Given the description of an element on the screen output the (x, y) to click on. 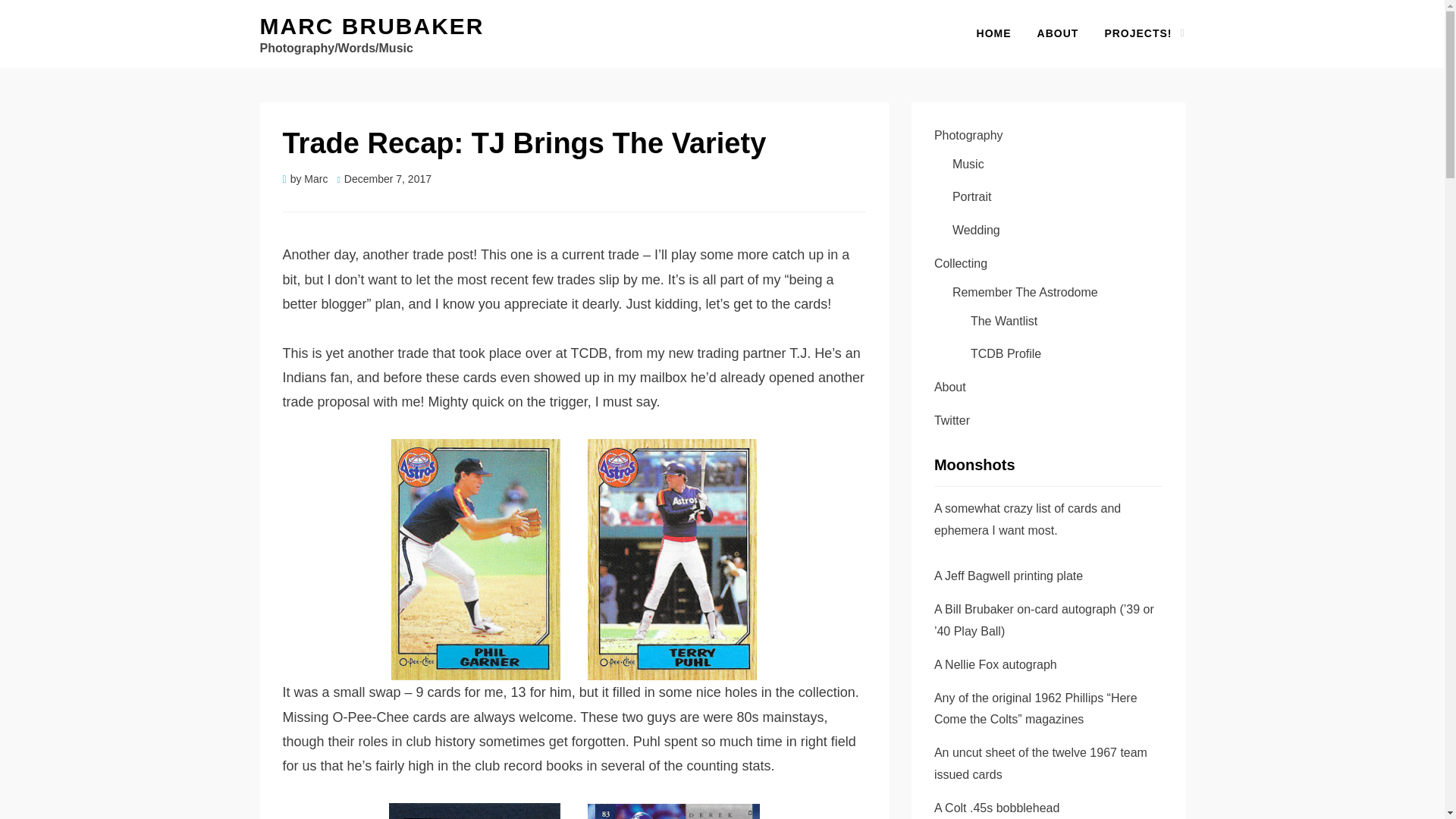
Marc Brubaker (371, 25)
Marc (315, 178)
PROJECTS! (1137, 33)
HOME (994, 33)
December 7, 2017 (383, 178)
Music (968, 164)
MARC BRUBAKER (371, 25)
Photography (968, 134)
ABOUT (1058, 33)
